Given the description of an element on the screen output the (x, y) to click on. 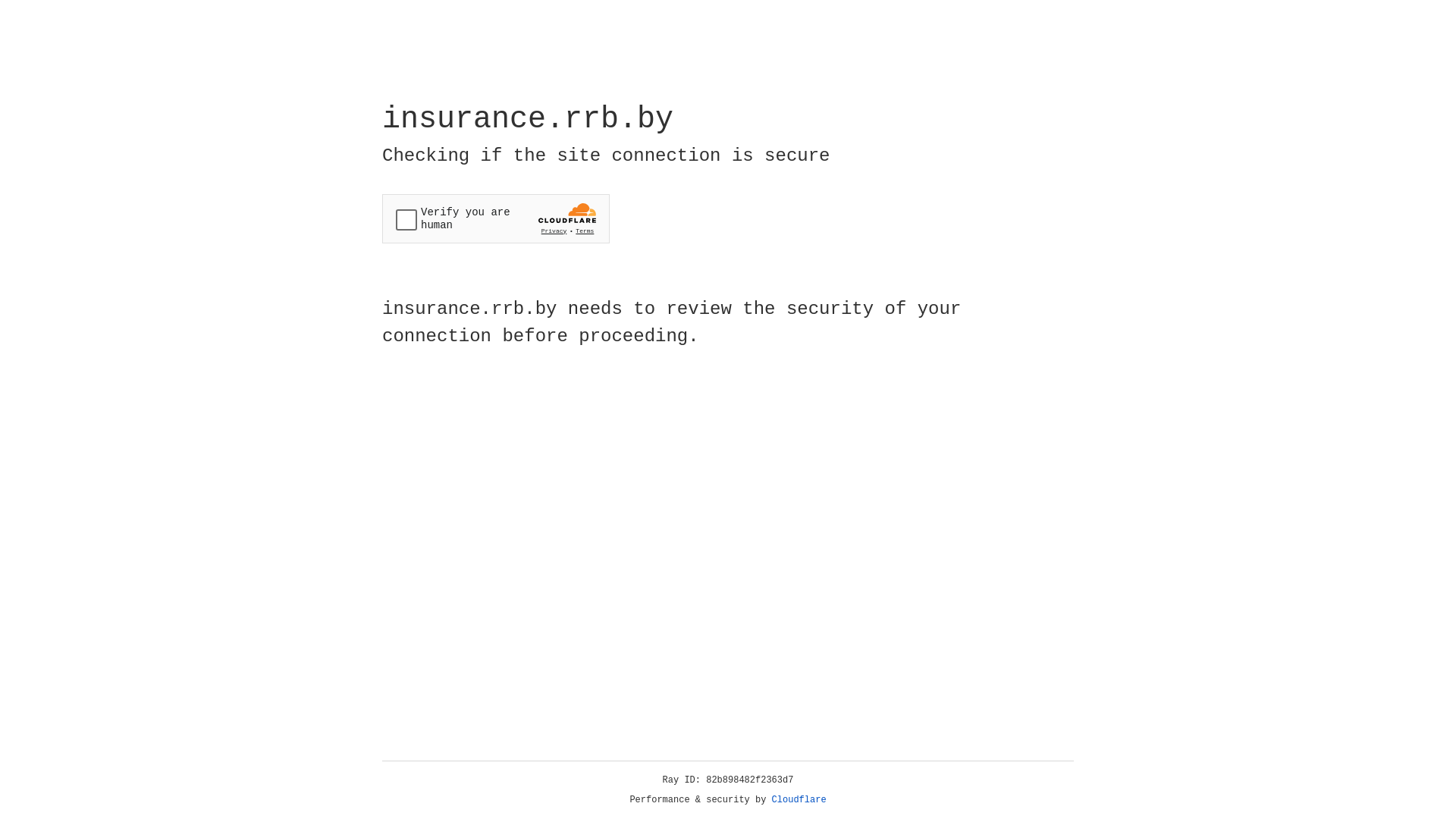
Cloudflare Element type: text (798, 799)
Widget containing a Cloudflare security challenge Element type: hover (495, 218)
